Given the description of an element on the screen output the (x, y) to click on. 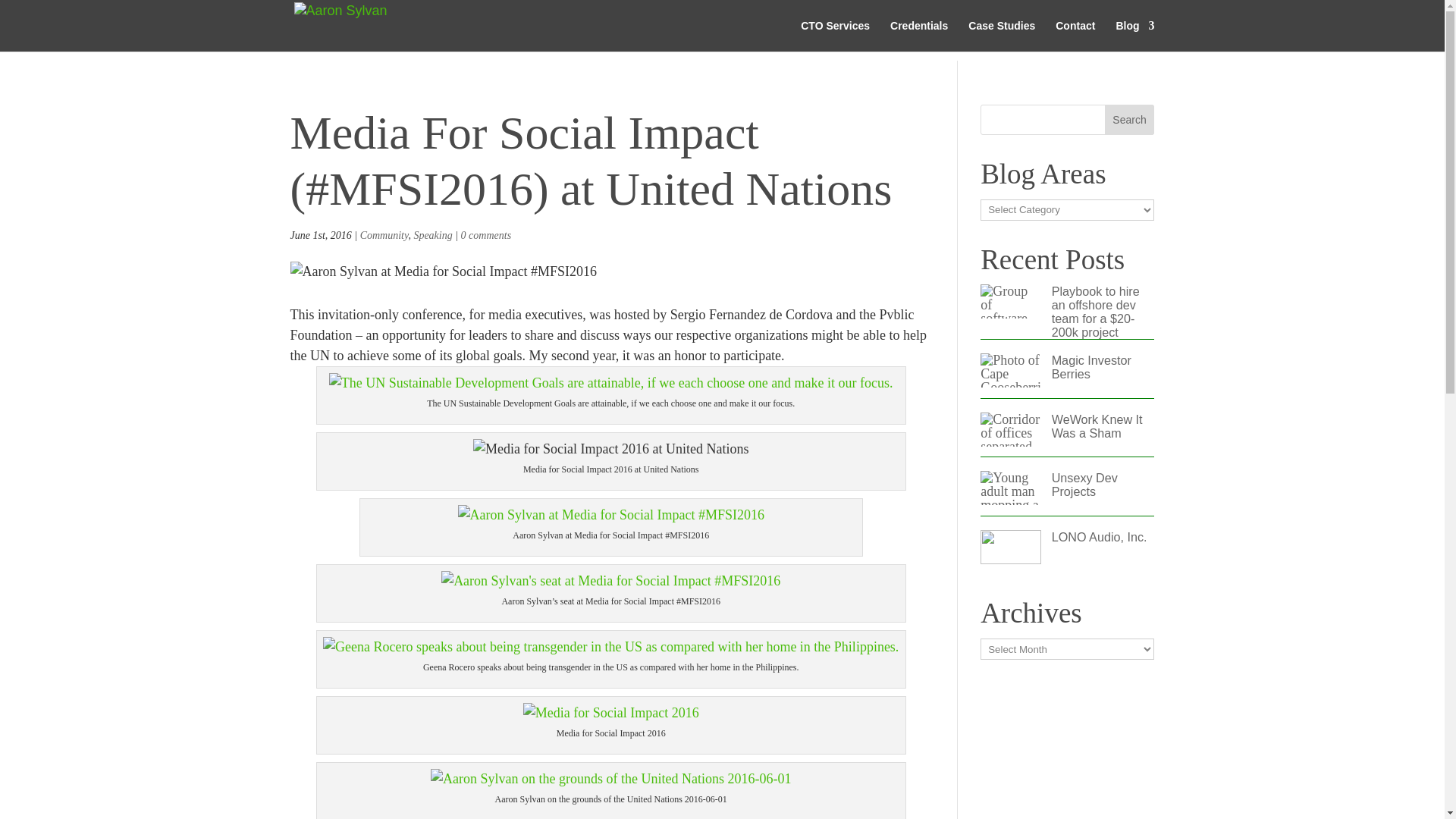
Contact (1074, 35)
Community (384, 235)
Search (1129, 119)
Magic Investor Berries (1091, 366)
Aaron Sylvan Mini-Bio (918, 35)
Unsexy Dev Projects (1084, 484)
Random Thoughts (1134, 35)
Search (1129, 119)
Blog (1134, 35)
Speaking (432, 235)
WeWork Knew It Was a Sham (1096, 425)
0 comments (486, 235)
CTO Services (834, 35)
Credentials (918, 35)
Case Studies (1001, 35)
